Given the description of an element on the screen output the (x, y) to click on. 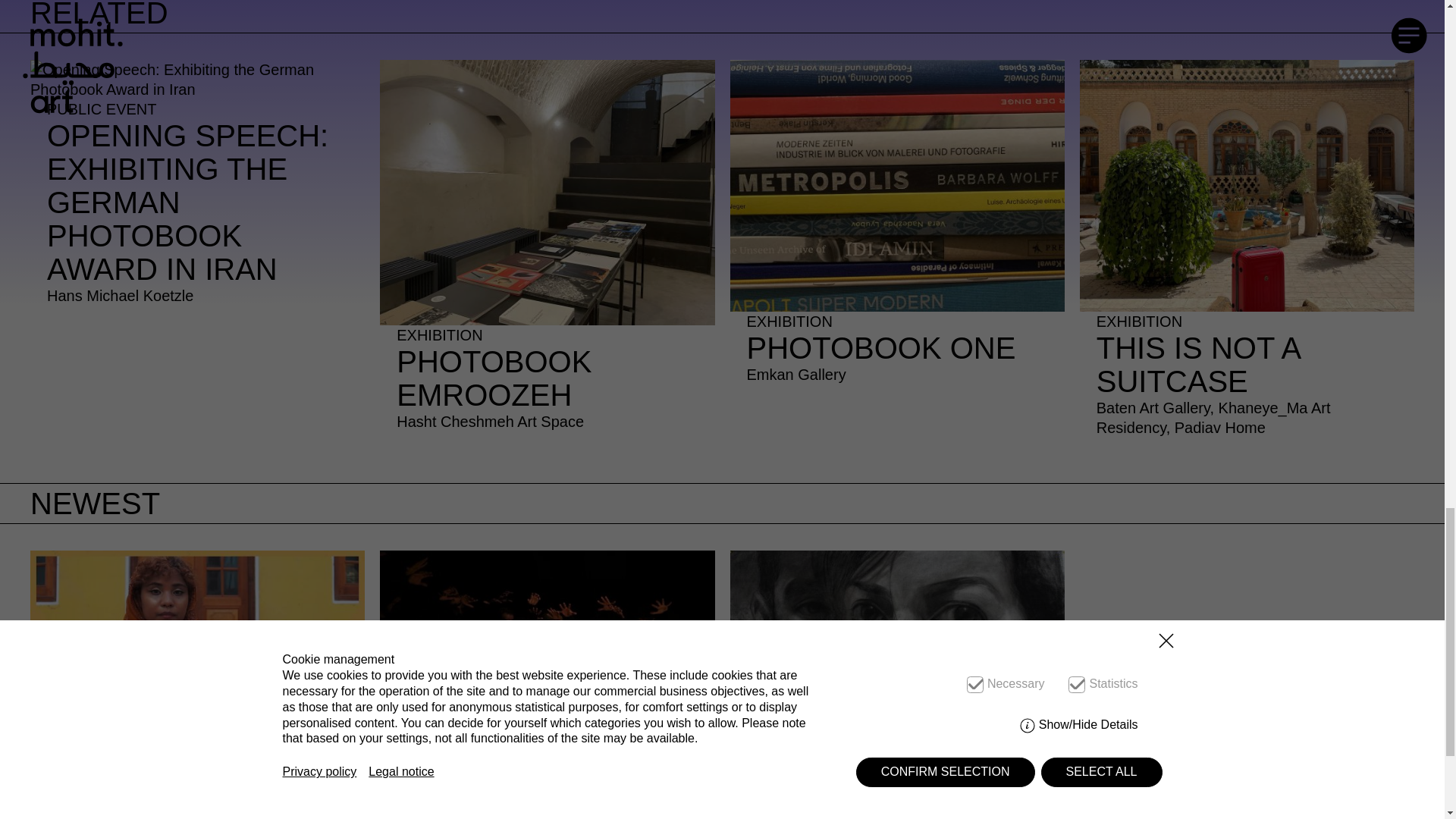
Photobook one (896, 228)
multi.part Publication (1048, 762)
PHOTOBOOK EMROOZEH (896, 228)
Other Colors (547, 252)
This Is Not a Suitcase (197, 684)
multi.part Publication (547, 252)
